Given the description of an element on the screen output the (x, y) to click on. 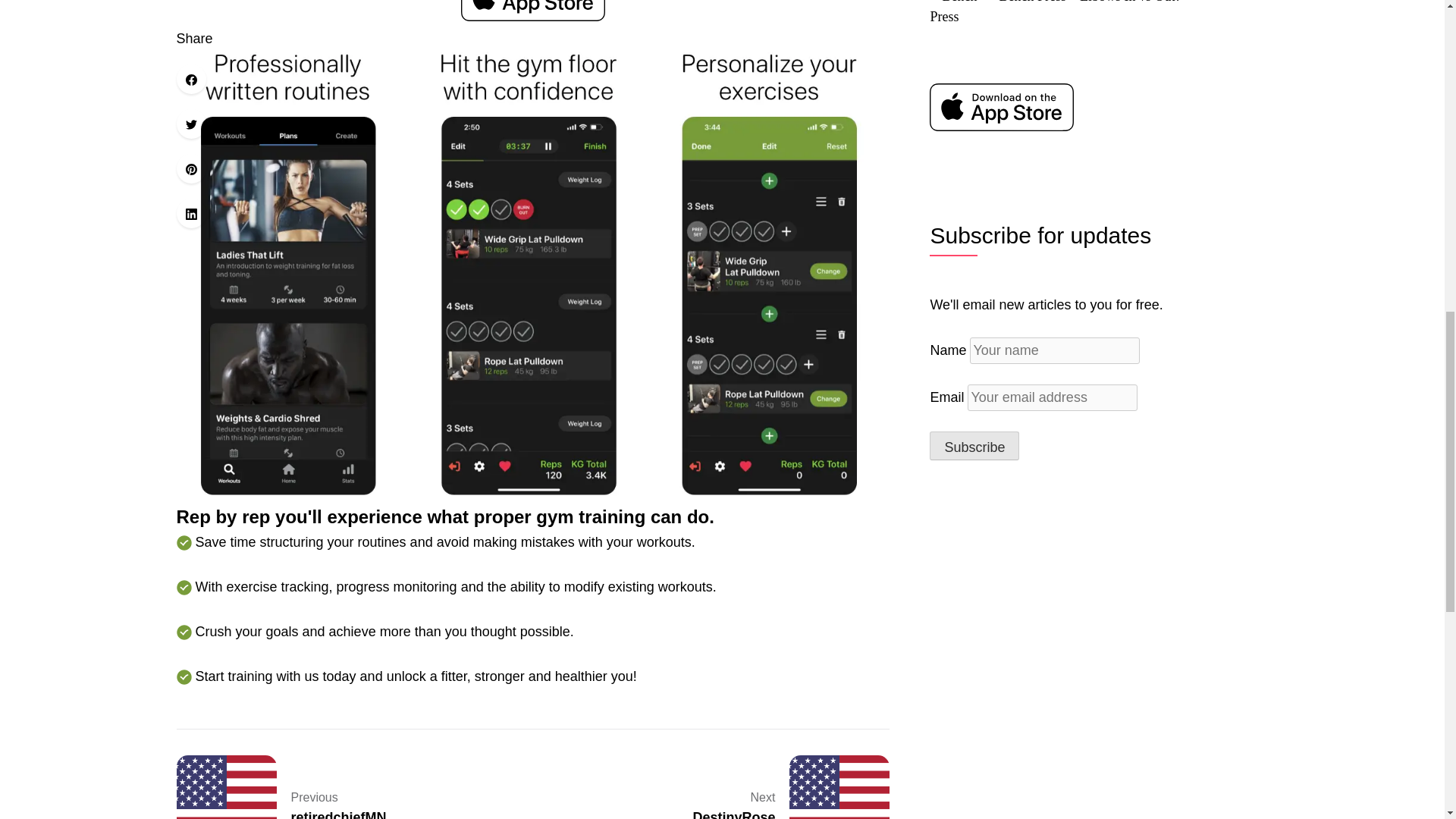
Subscribe (736, 787)
